Given the description of an element on the screen output the (x, y) to click on. 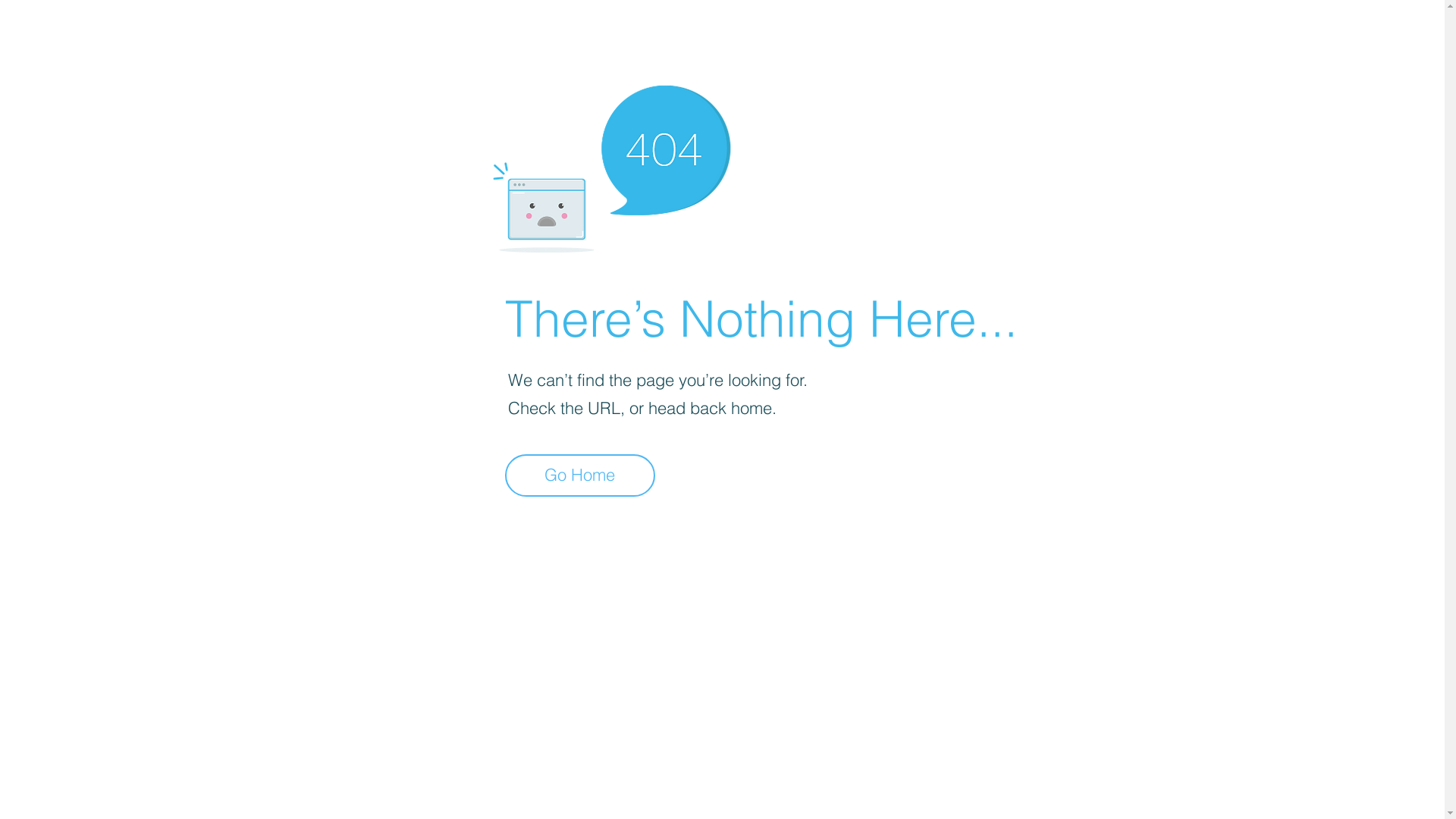
Go Home Element type: text (580, 475)
404-icon_2.png Element type: hover (610, 164)
